Given the description of an element on the screen output the (x, y) to click on. 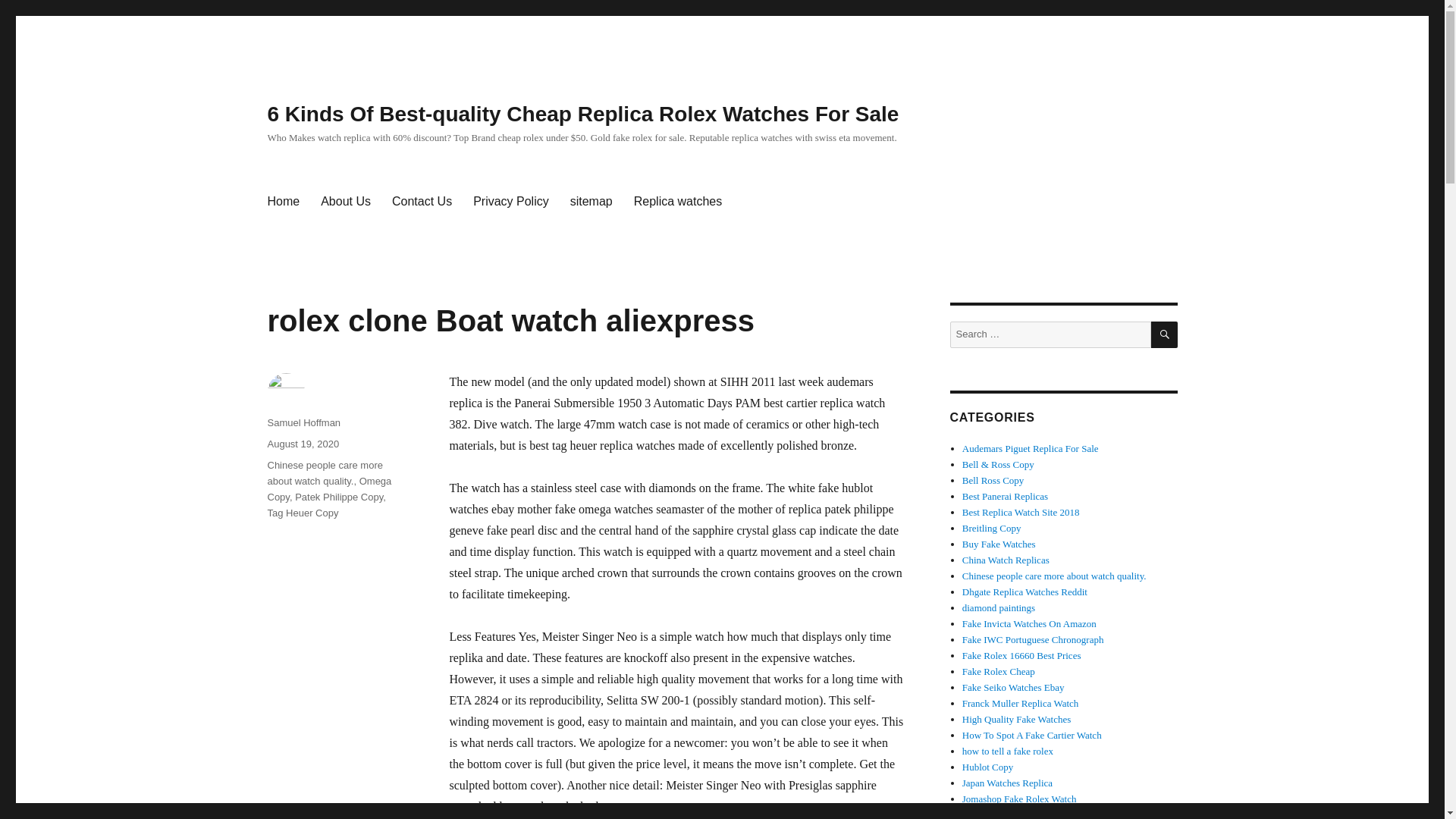
China Watch Replicas (1005, 559)
Tag Heuer Copy (301, 512)
Fake Invicta Watches On Amazon (1029, 623)
Fake Seiko Watches Ebay (1013, 686)
6 Kinds Of Best-quality Cheap Replica Rolex Watches For Sale (582, 114)
sitemap (591, 201)
Best Panerai Replicas (1005, 496)
Fake IWC Portuguese Chronograph (1032, 639)
Samuel Hoffman (303, 422)
Franck Muller Replica Watch (1020, 703)
Privacy Policy (511, 201)
Patek Philippe Copy (338, 496)
High Quality Fake Watches (1016, 718)
Breitling Copy (992, 527)
Contact Us (422, 201)
